Given the description of an element on the screen output the (x, y) to click on. 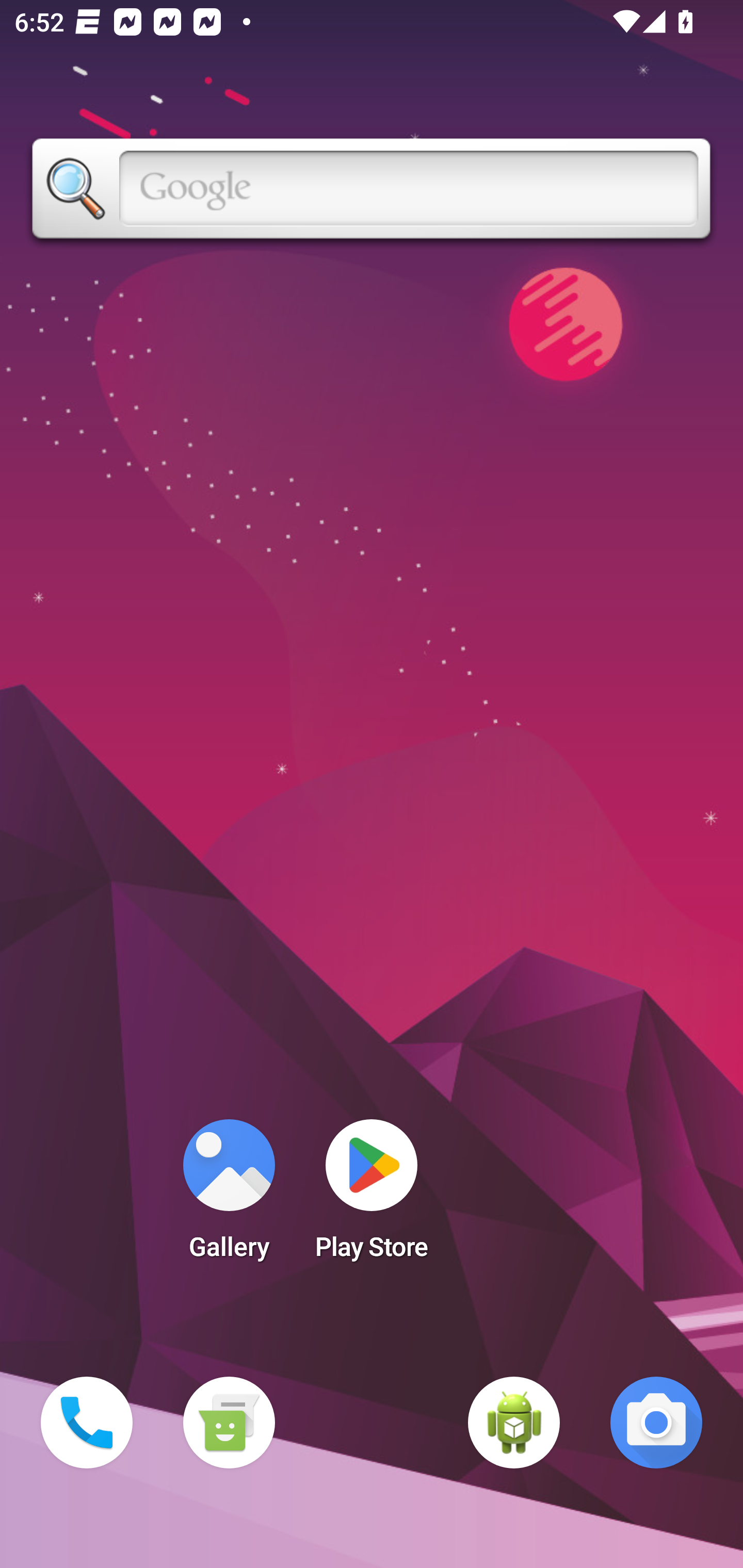
Gallery (228, 1195)
Play Store (371, 1195)
Phone (86, 1422)
Messaging (228, 1422)
WebView Browser Tester (513, 1422)
Camera (656, 1422)
